Given the description of an element on the screen output the (x, y) to click on. 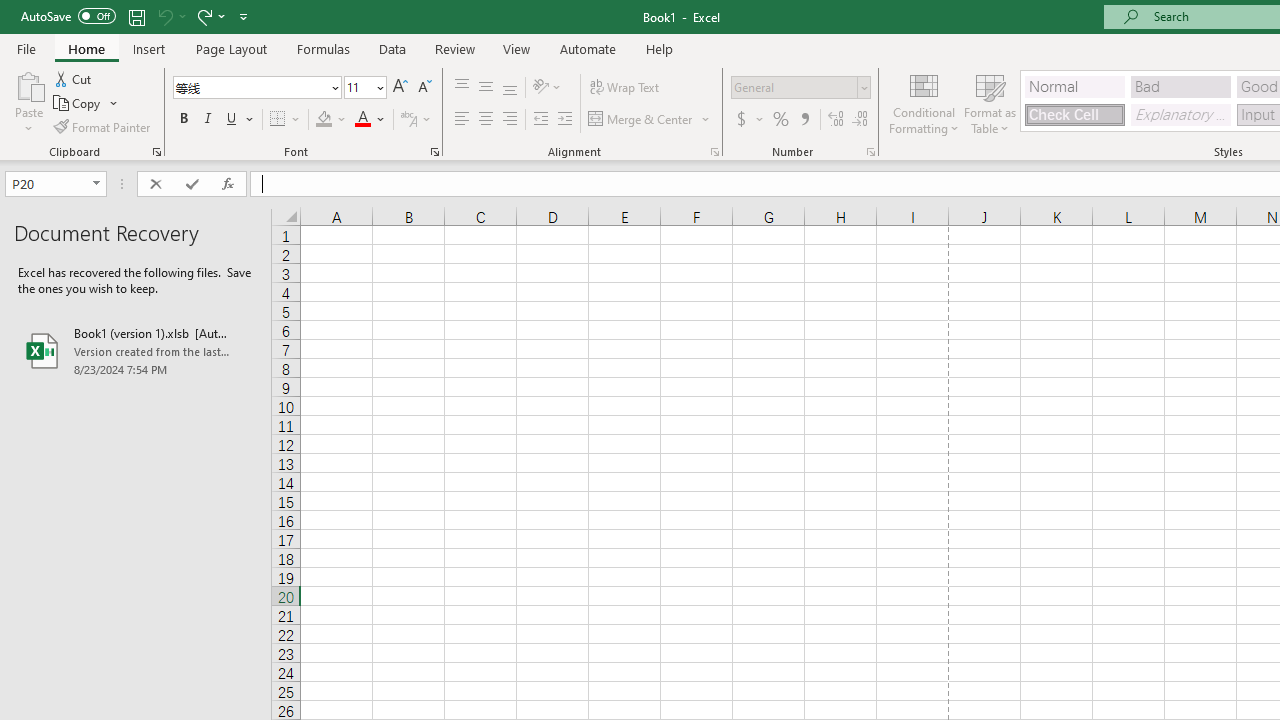
Increase Decimal (836, 119)
Number Format (800, 87)
Comma Style (804, 119)
Explanatory Text (1180, 114)
Conditional Formatting (924, 102)
Decrease Font Size (424, 87)
Format Cell Font (434, 151)
Top Align (461, 87)
Wrap Text (624, 87)
Merge & Center (641, 119)
Borders (285, 119)
Bottom Border (278, 119)
